Given the description of an element on the screen output the (x, y) to click on. 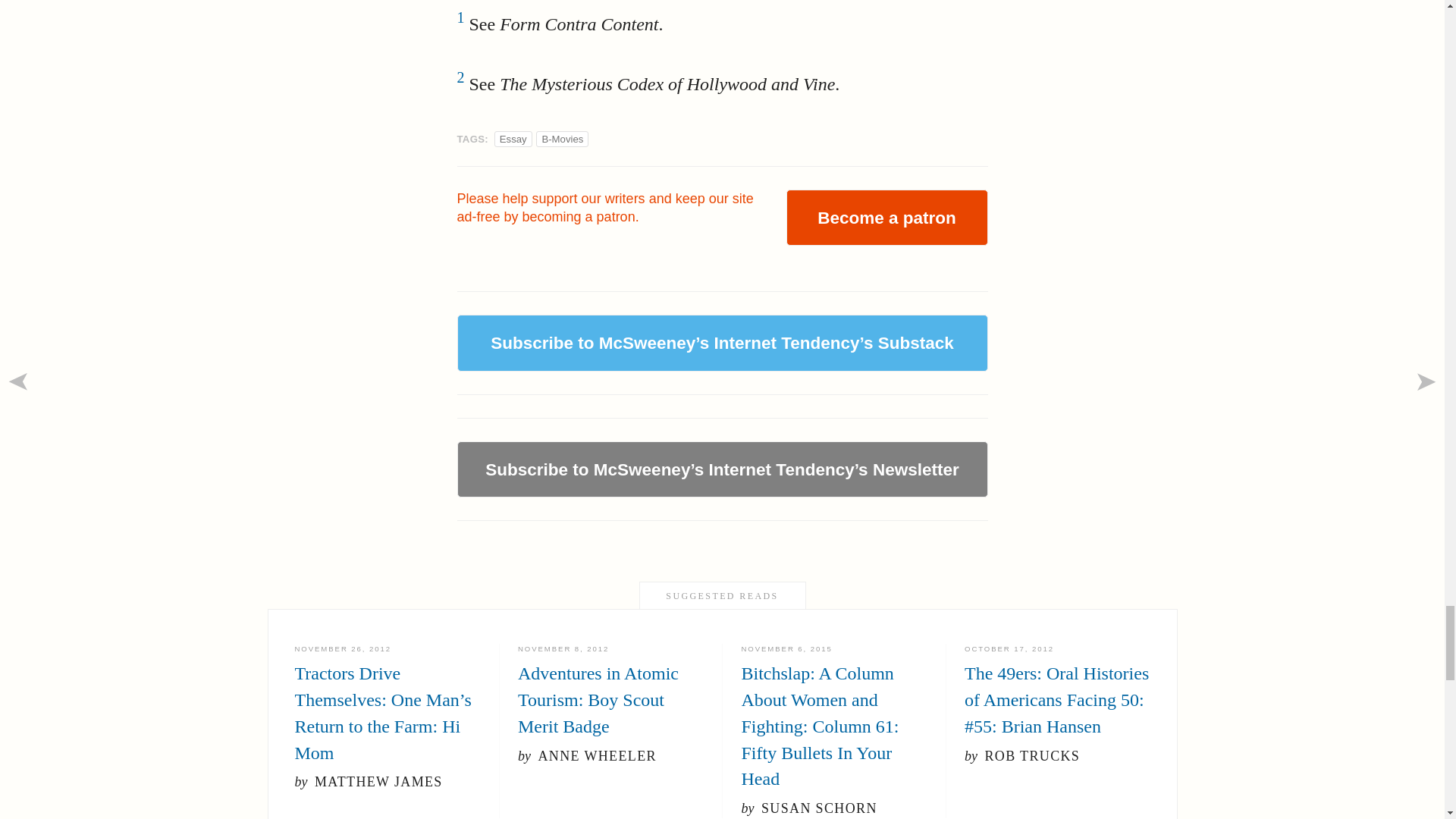
B-Movies (562, 138)
Become a patron (886, 217)
Essay (513, 138)
